Given the description of an element on the screen output the (x, y) to click on. 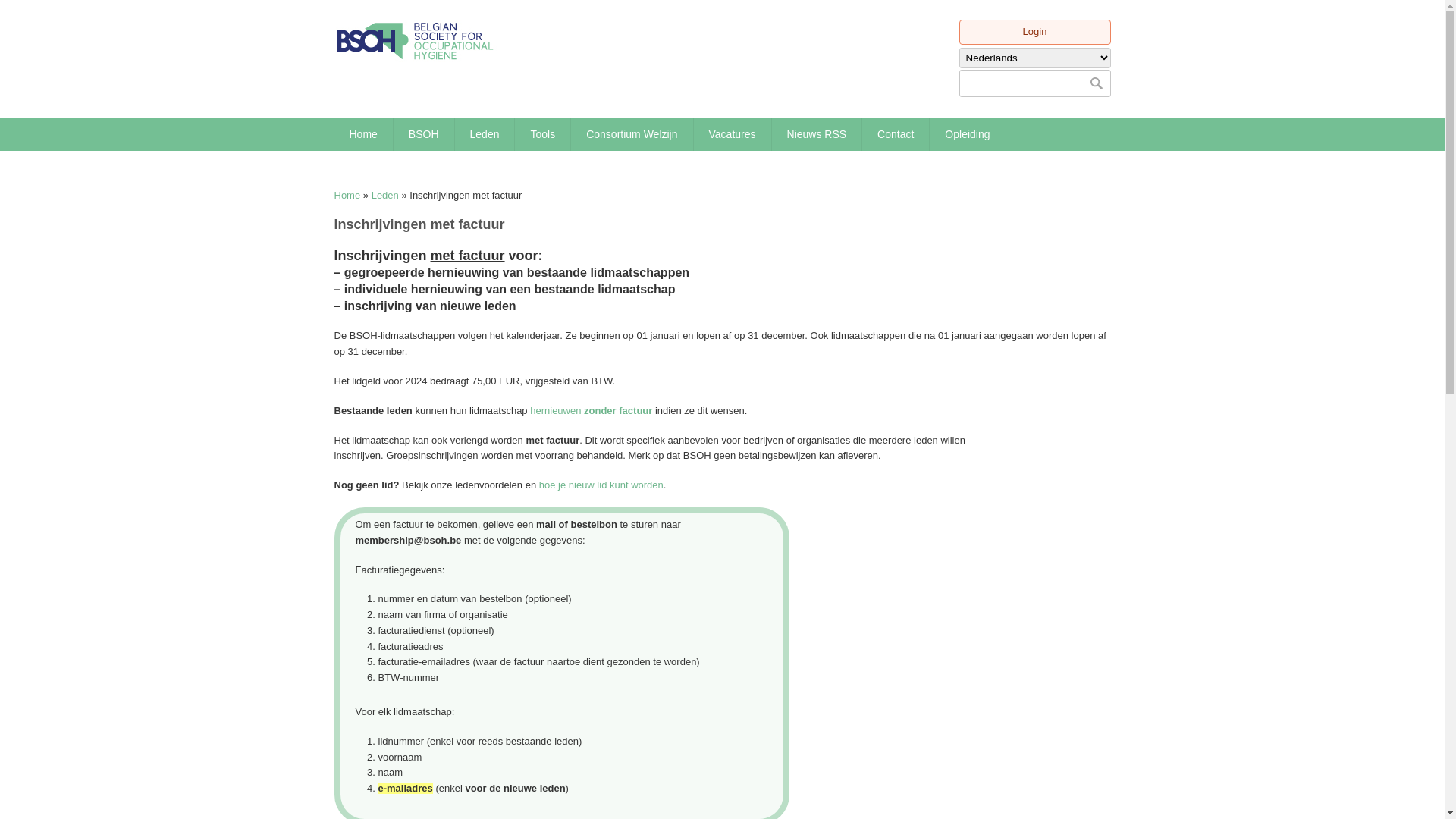
Home Element type: hover (414, 41)
Nieuws RSS Element type: text (816, 134)
Home Element type: text (362, 134)
Tools Element type: text (542, 134)
hernieuwen zonder factuur Element type: text (591, 410)
hoe je nieuw lid kunt worden Element type: text (601, 484)
Home Element type: text (346, 194)
Opleiding Element type: text (966, 134)
Zoeken Element type: text (1095, 83)
Leden Element type: text (484, 134)
BSOH Element type: text (423, 134)
Contact Element type: text (895, 134)
Vacatures Element type: text (732, 134)
Leden Element type: text (384, 194)
Geef de woorden op waarnaar u wilt zoeken. Element type: hover (1034, 83)
Consortium Welzijn Element type: text (631, 134)
Login Element type: text (1034, 31)
